Given the description of an element on the screen output the (x, y) to click on. 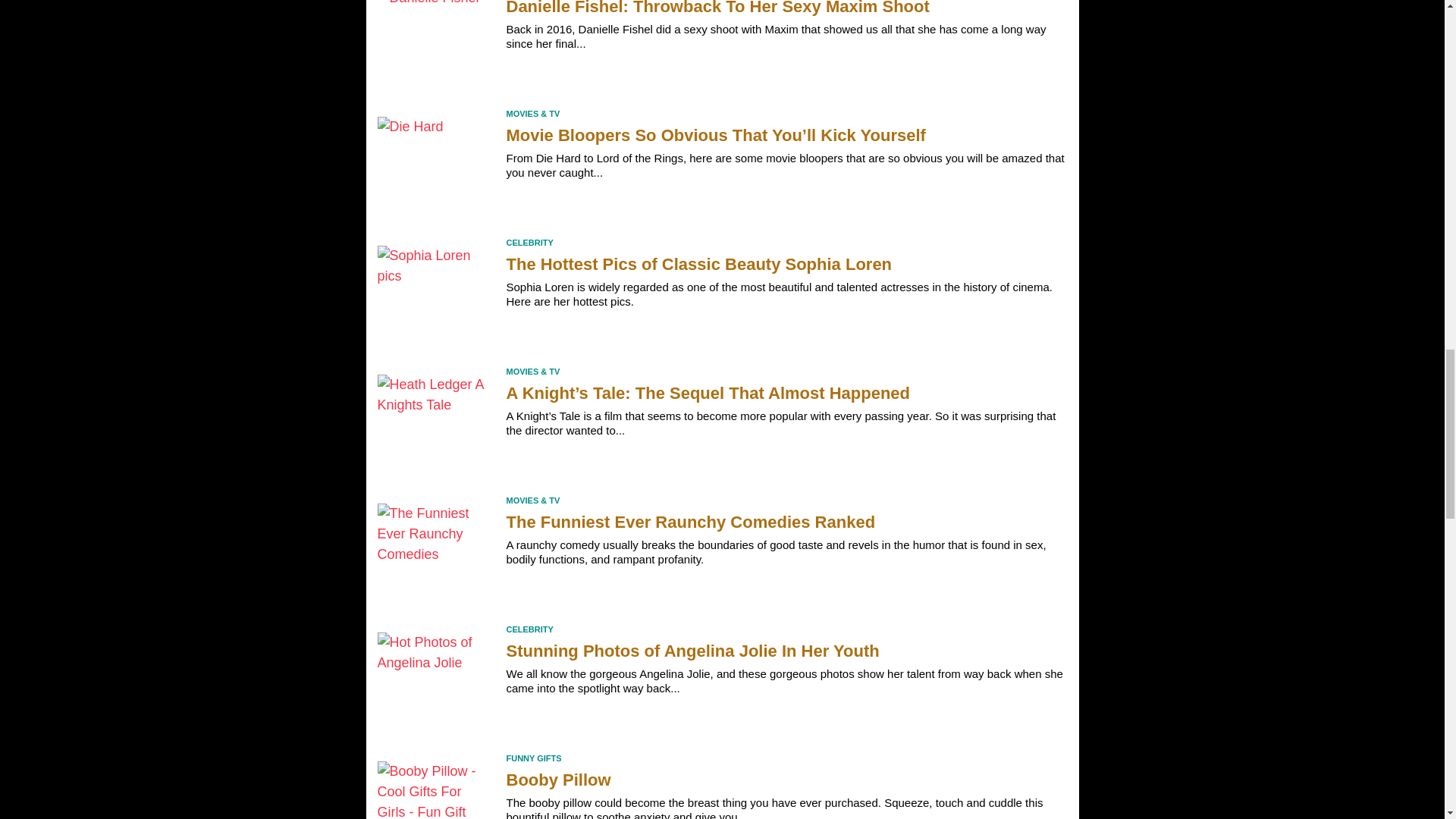
Danielle Fishel: Throwback To Her Sexy Maxim Shoot (434, 47)
The Hottest Pics of Classic Beauty Sophia Loren (434, 295)
